Given the description of an element on the screen output the (x, y) to click on. 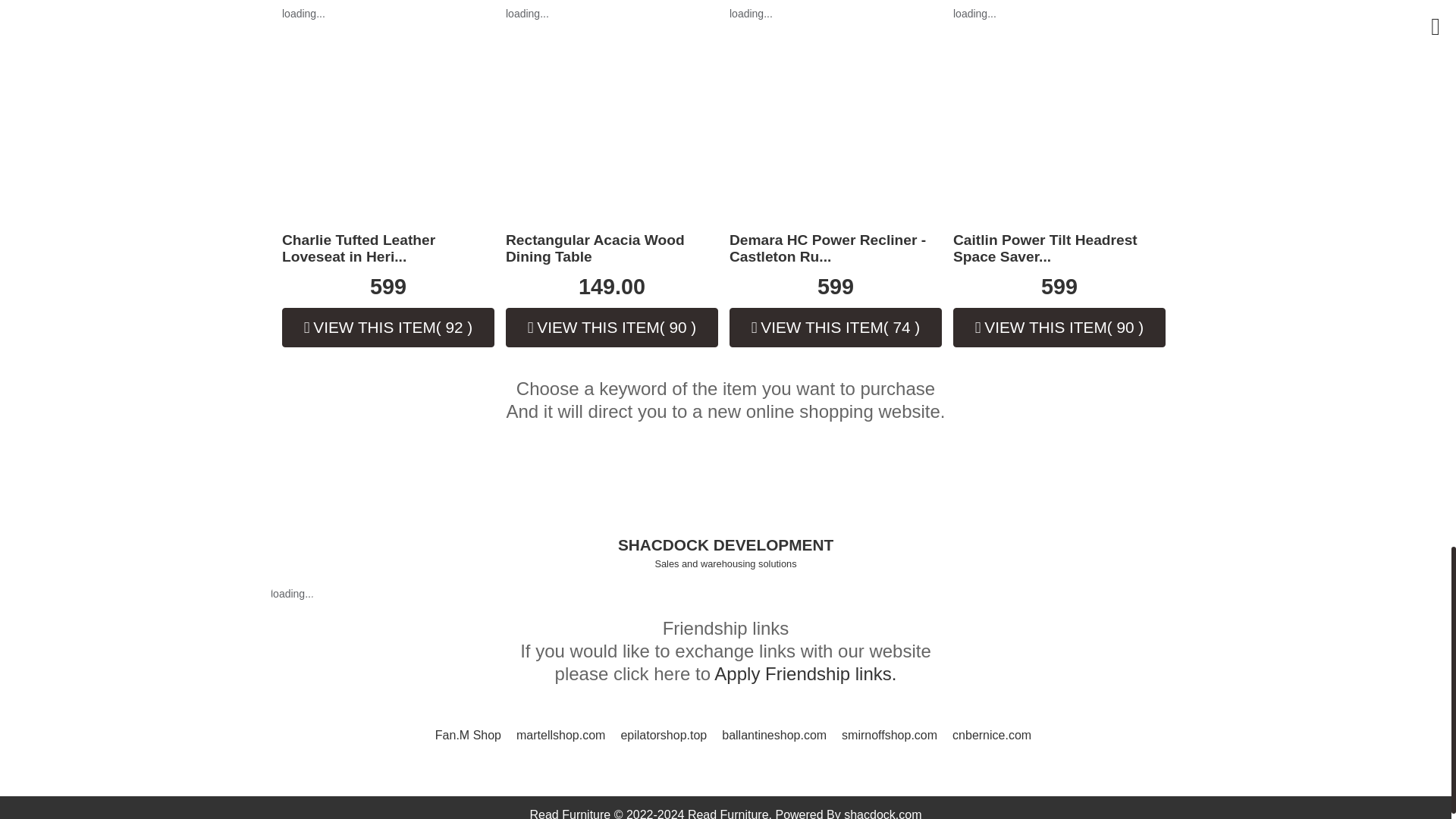
VIEW THIS ITEM (1059, 327)
smirnoffshop.com (889, 735)
Fan.M Shop (467, 735)
smirnoffshop.com (889, 735)
Friendship links (805, 673)
cnbernice.com (991, 735)
Fan.M Shop (467, 735)
epilatorshop.top (663, 735)
ballantineshop.com (774, 735)
Apply Friendship links. (805, 673)
